Given the description of an element on the screen output the (x, y) to click on. 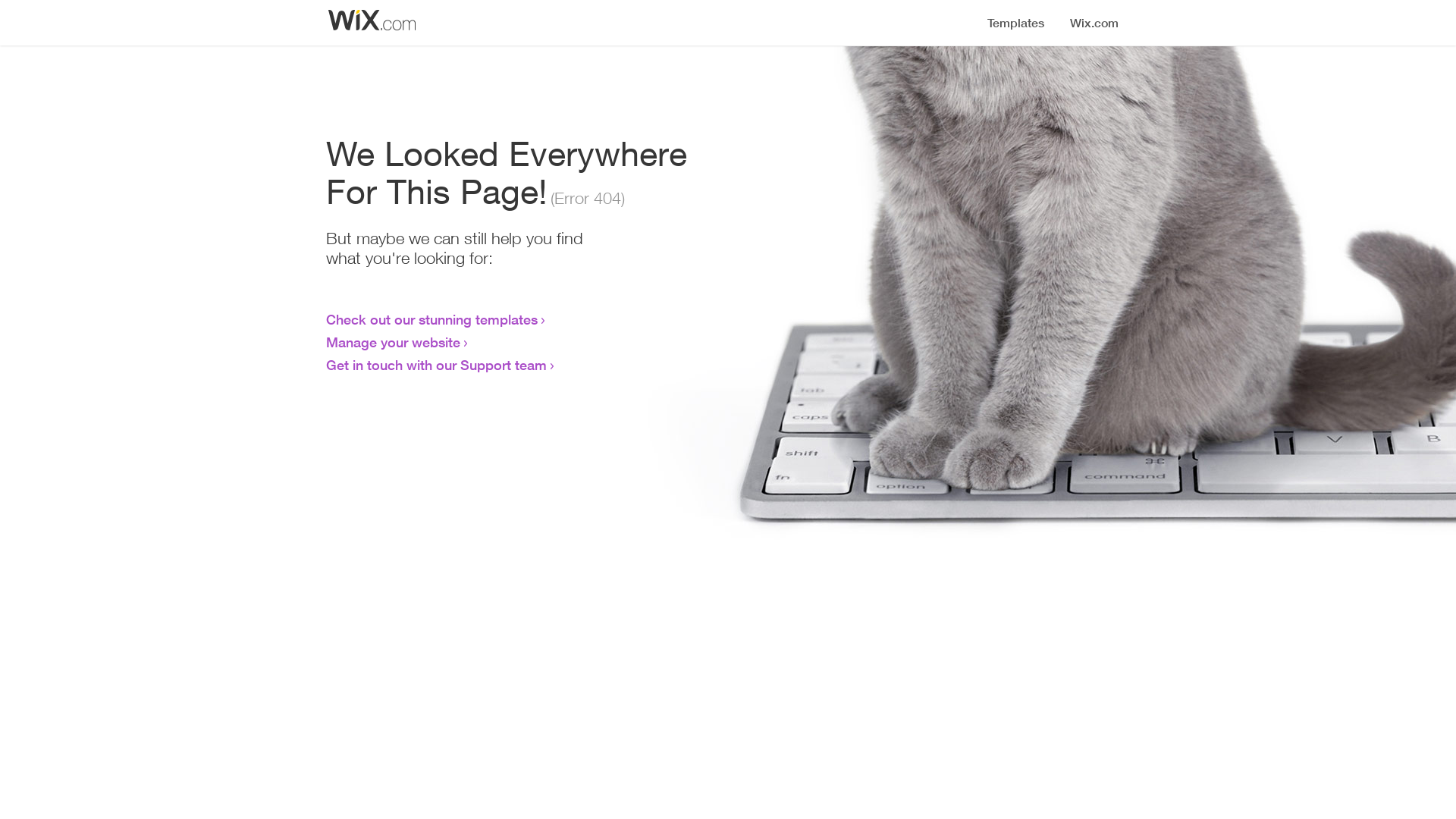
Get in touch with our Support team Element type: text (436, 364)
Manage your website Element type: text (393, 341)
Check out our stunning templates Element type: text (431, 318)
